Given the description of an element on the screen output the (x, y) to click on. 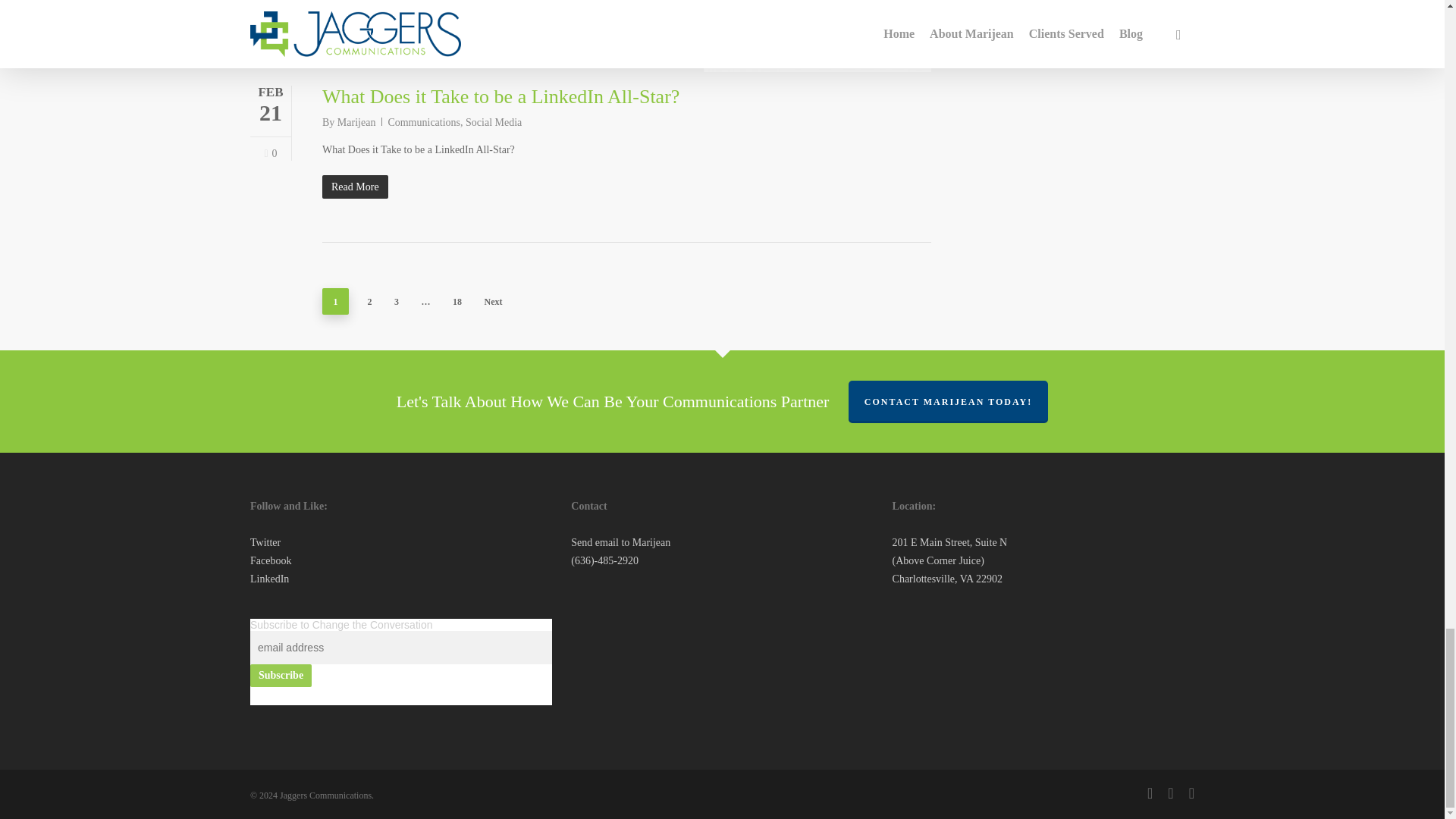
Love this (269, 153)
Subscribe (280, 675)
Posts by Marijean (356, 122)
